Given the description of an element on the screen output the (x, y) to click on. 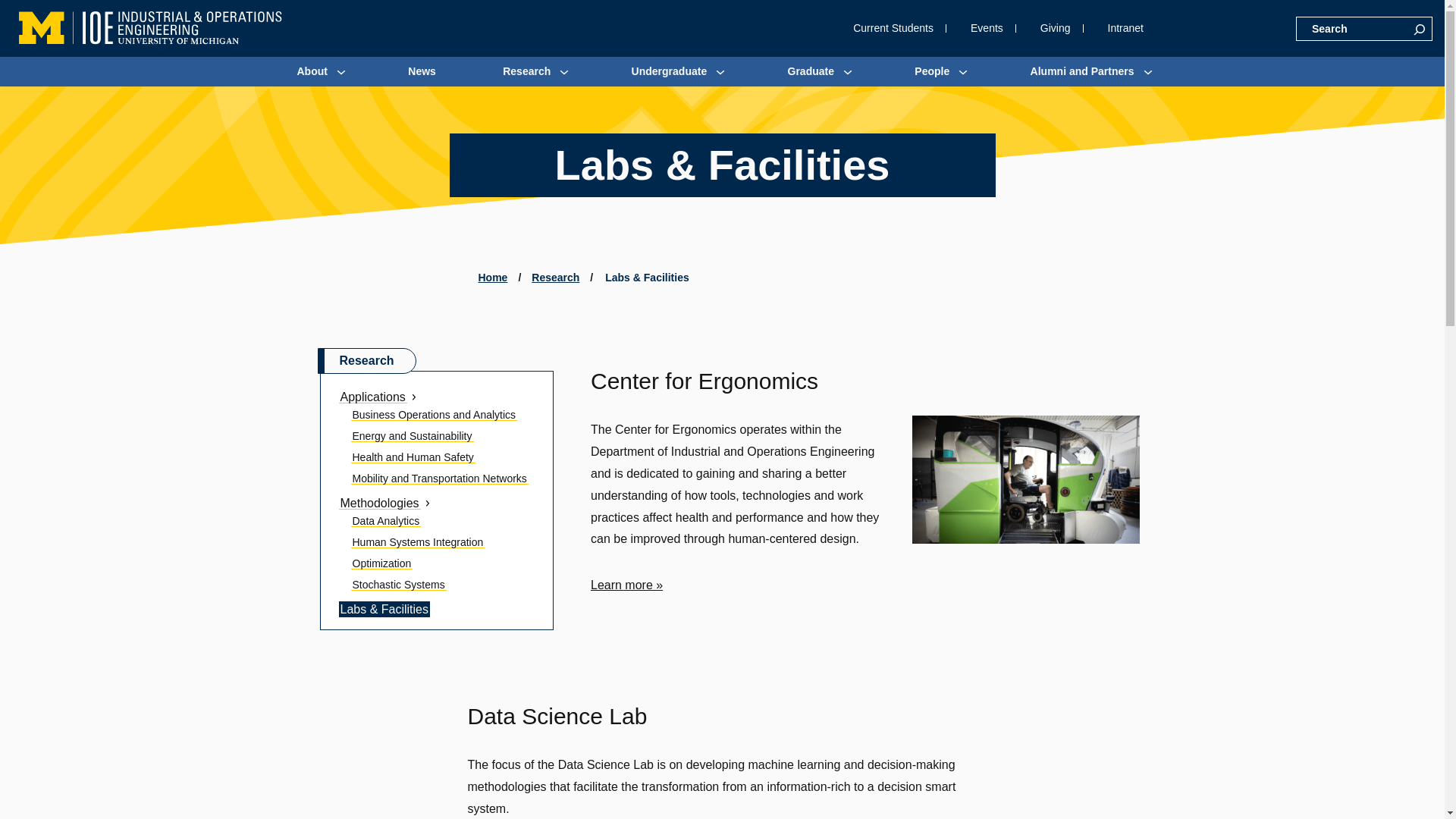
News (422, 71)
About (311, 71)
Go to Research. (555, 277)
Research (526, 71)
Events (987, 28)
Intranet (1125, 28)
Giving (1055, 28)
Undergraduate (669, 71)
Current Students (893, 28)
